Given the description of an element on the screen output the (x, y) to click on. 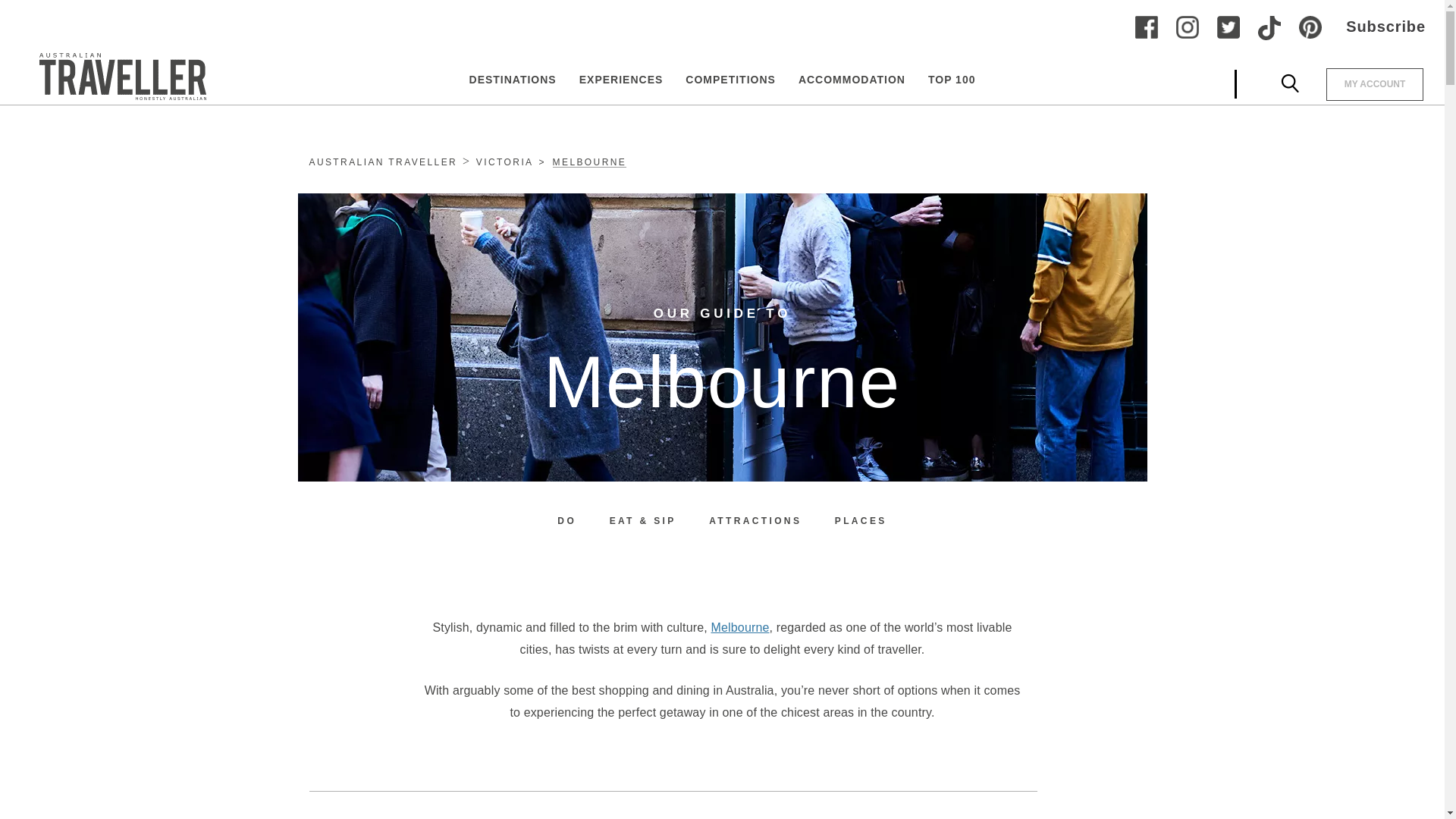
MY ACCOUNT (1363, 83)
Subscribe (1373, 30)
MY ACCOUNT (1374, 83)
DESTINATIONS (512, 78)
